Given the description of an element on the screen output the (x, y) to click on. 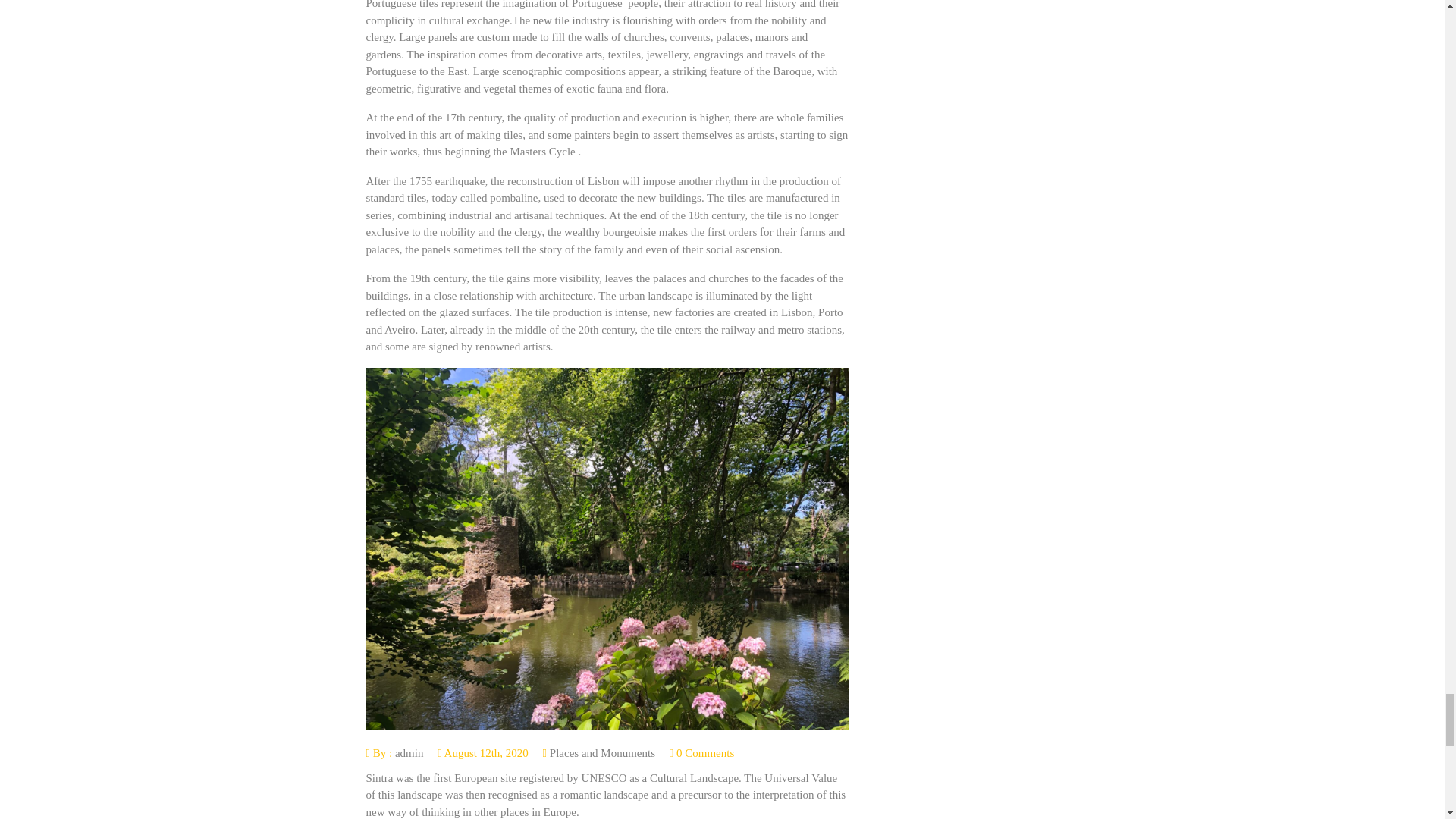
admin (408, 752)
Places and Monuments (602, 752)
Posts by admin (408, 752)
